Given the description of an element on the screen output the (x, y) to click on. 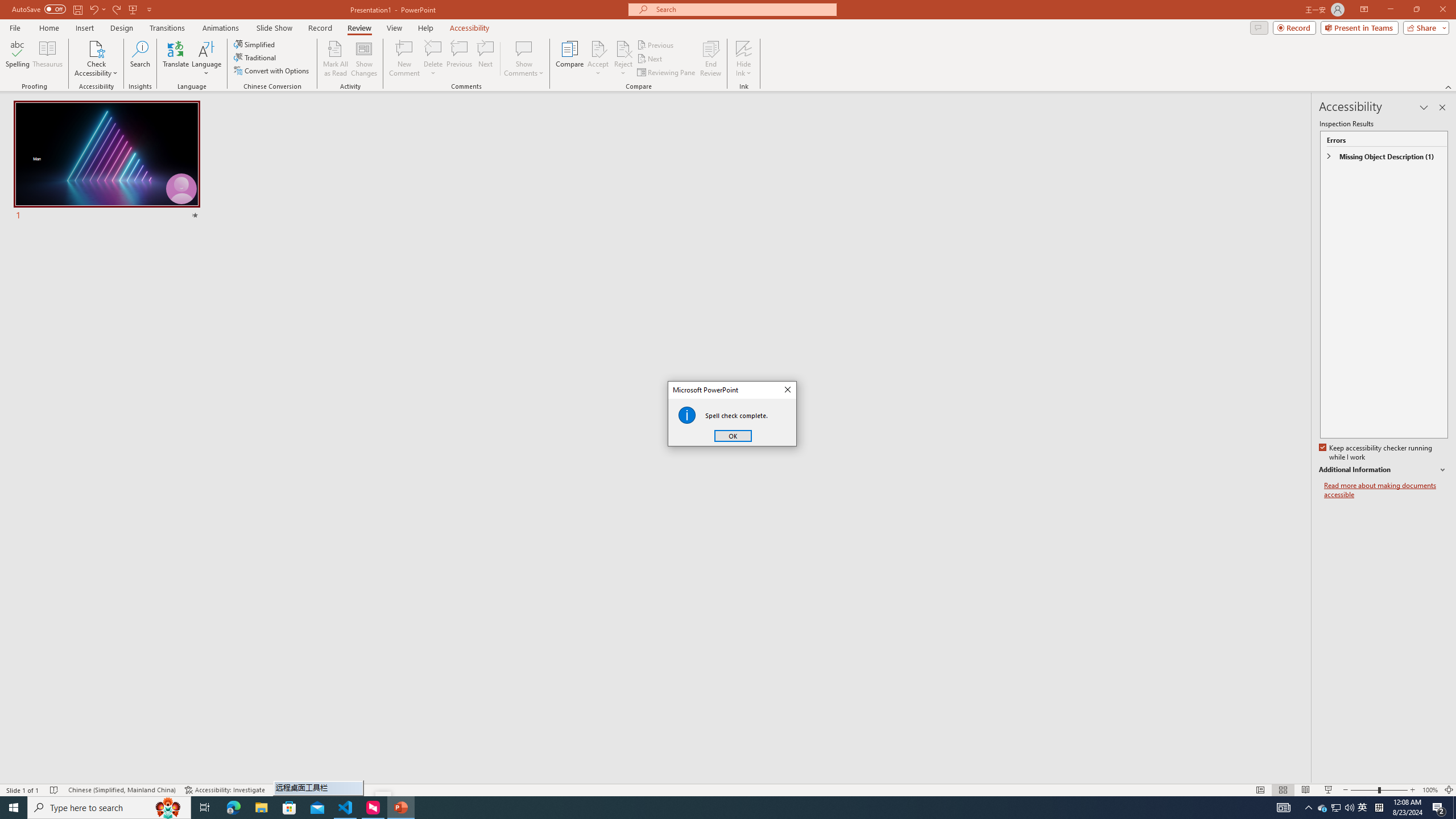
Thesaurus... (47, 58)
Reviewing Pane (666, 72)
Mark All as Read (335, 58)
Accept (598, 58)
